Given the description of an element on the screen output the (x, y) to click on. 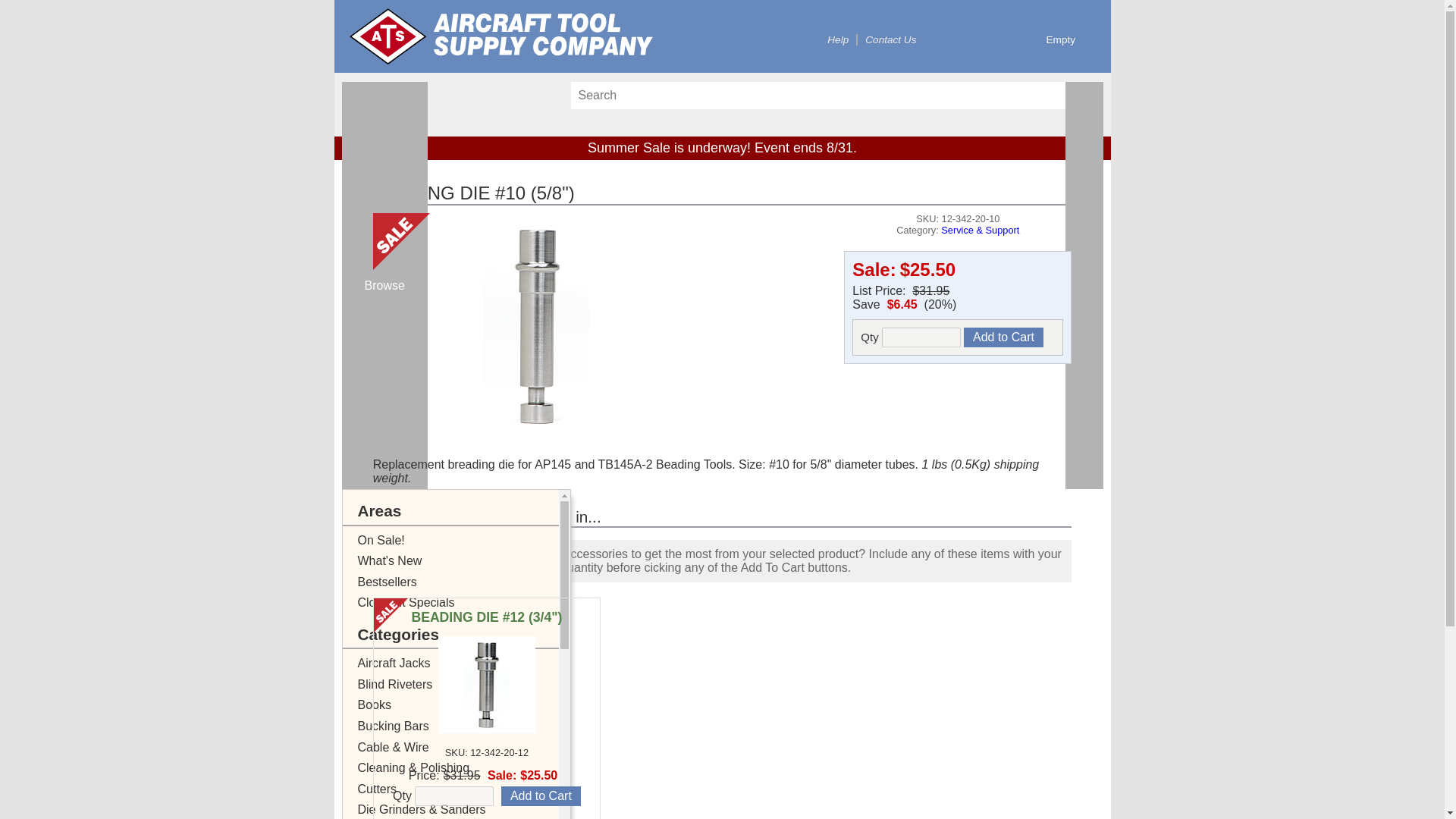
Help (837, 39)
Closeout Specials (465, 602)
Blind Riveters (465, 684)
On Sale! (465, 540)
What's New (465, 560)
Bucking Bars (465, 726)
Cutters (465, 789)
Bestsellers (465, 581)
Add to Cart (1003, 337)
Add to Cart (540, 795)
Books (465, 704)
Contact Us (889, 39)
Aircraft Jacks (465, 663)
